Given the description of an element on the screen output the (x, y) to click on. 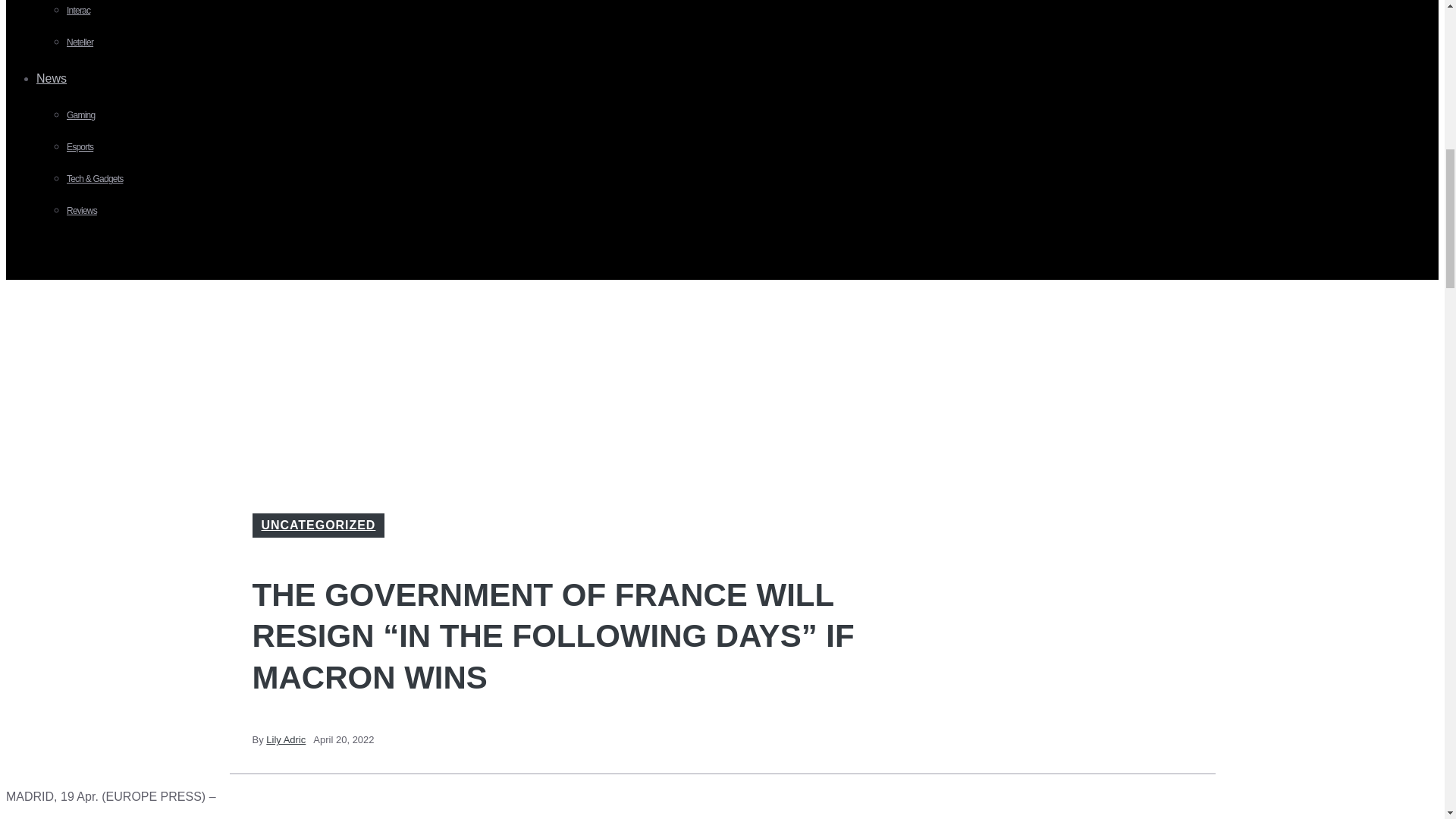
Lily Adric (285, 739)
Interac (78, 9)
Esports (79, 146)
Gaming (80, 114)
Reviews (81, 210)
Neteller (79, 41)
Scroll back to top (1406, 720)
News (57, 78)
UNCATEGORIZED (317, 524)
